Given the description of an element on the screen output the (x, y) to click on. 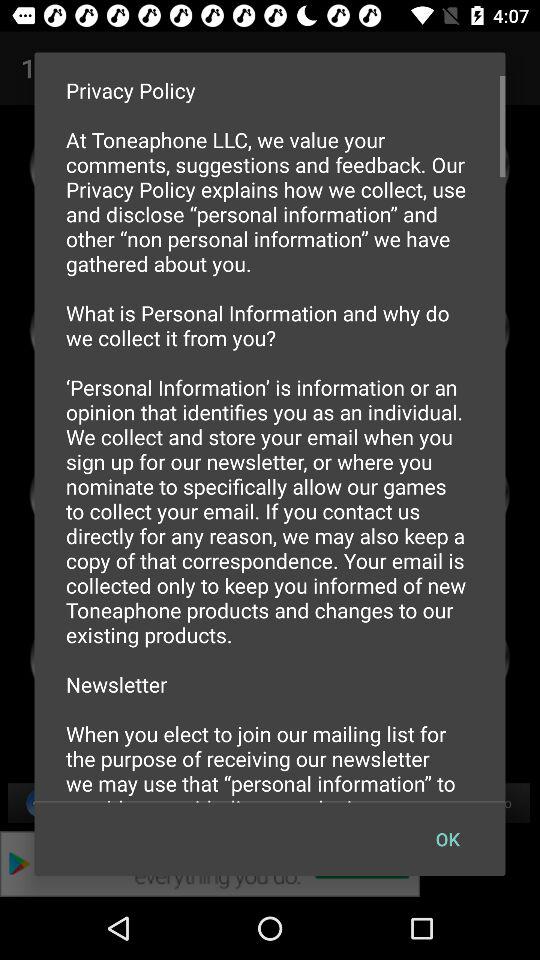
press icon below privacy policy at (447, 838)
